Given the description of an element on the screen output the (x, y) to click on. 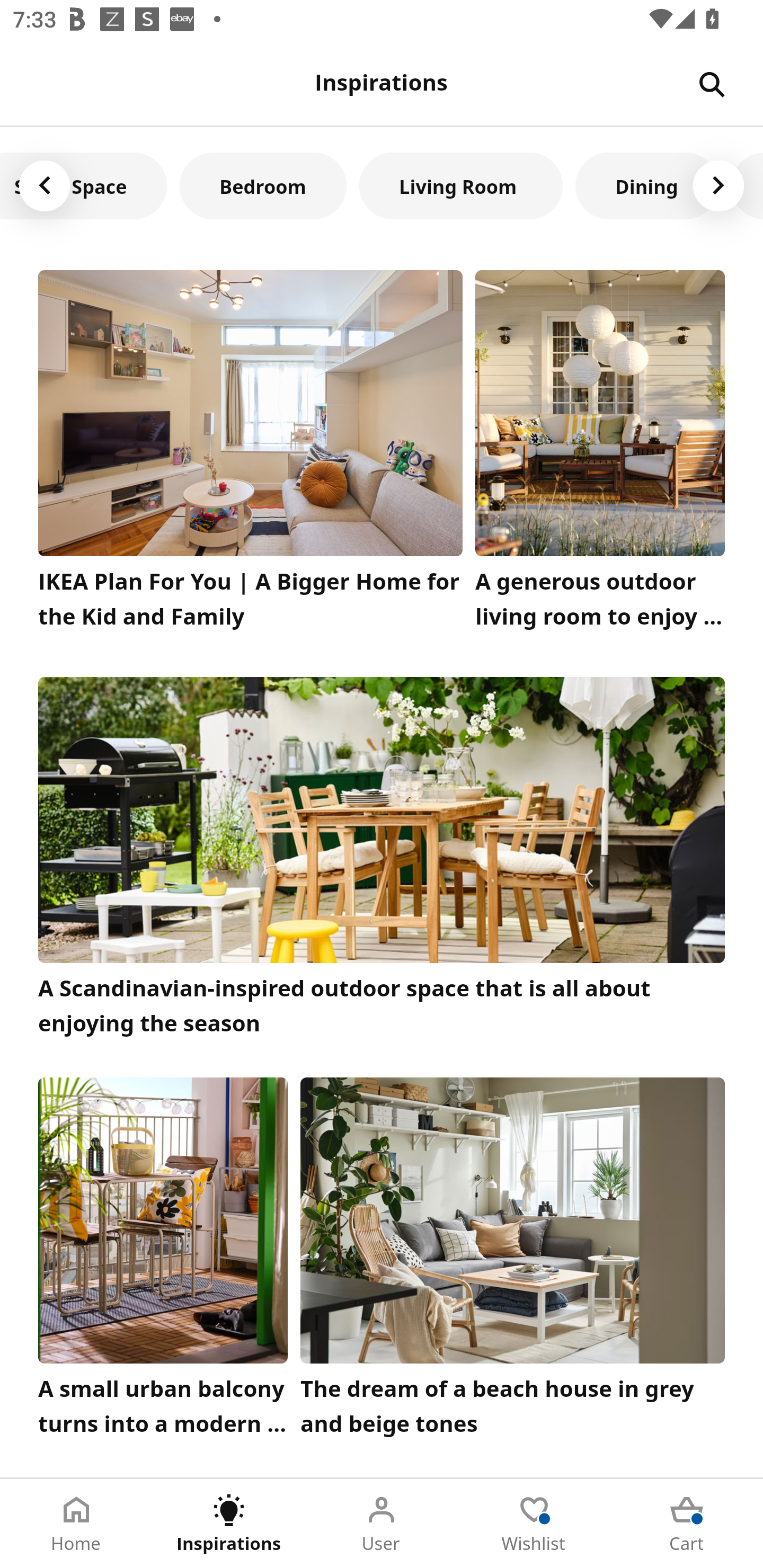
Bedroom (262, 185)
Living Room  (461, 185)
Dining (646, 185)
The dream of a beach house in grey and beige tones (512, 1261)
Home
Tab 1 of 5 (76, 1522)
Inspirations
Tab 2 of 5 (228, 1522)
User
Tab 3 of 5 (381, 1522)
Wishlist
Tab 4 of 5 (533, 1522)
Cart
Tab 5 of 5 (686, 1522)
